Given the description of an element on the screen output the (x, y) to click on. 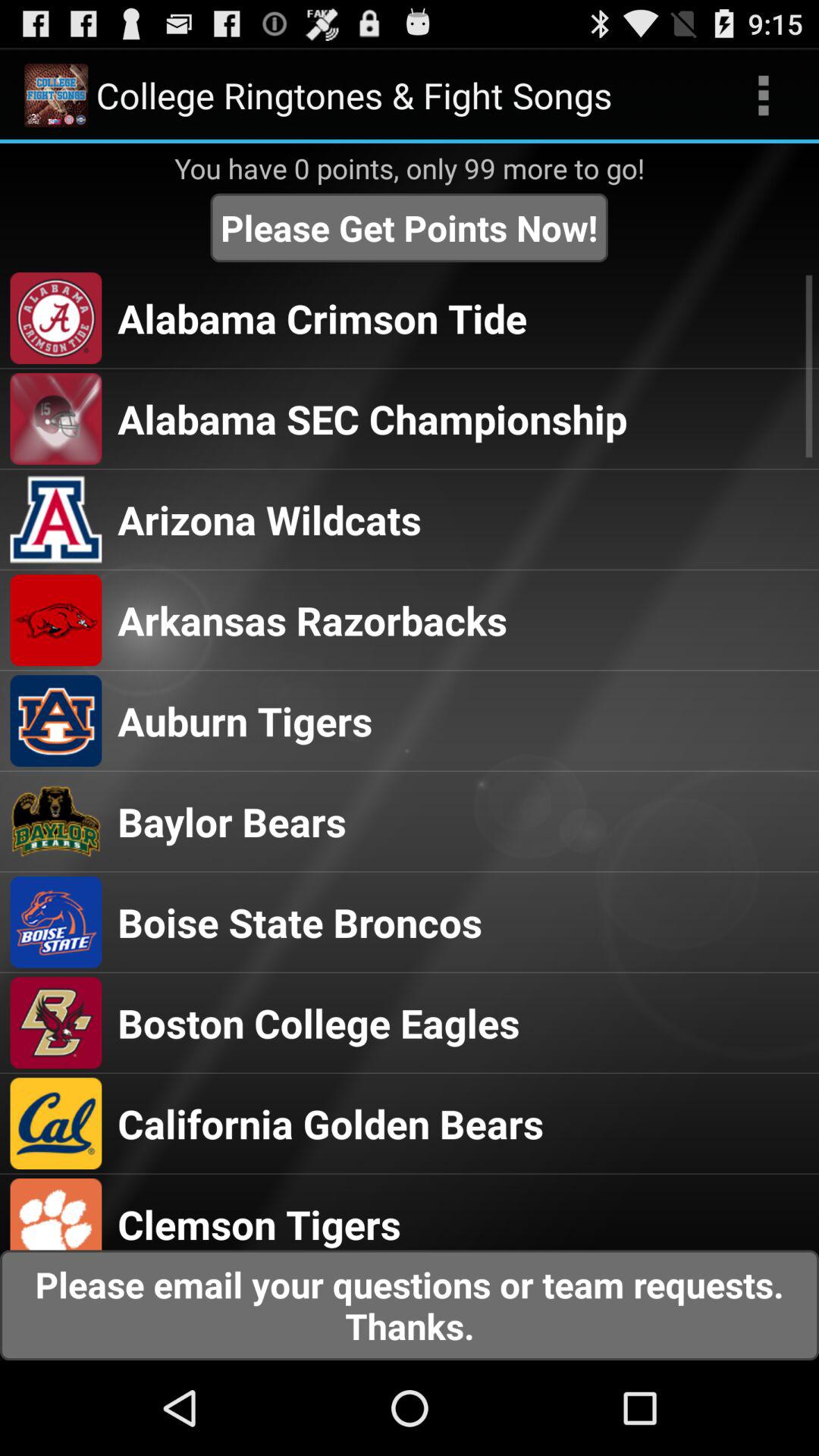
tap item above boston college eagles (299, 921)
